Given the description of an element on the screen output the (x, y) to click on. 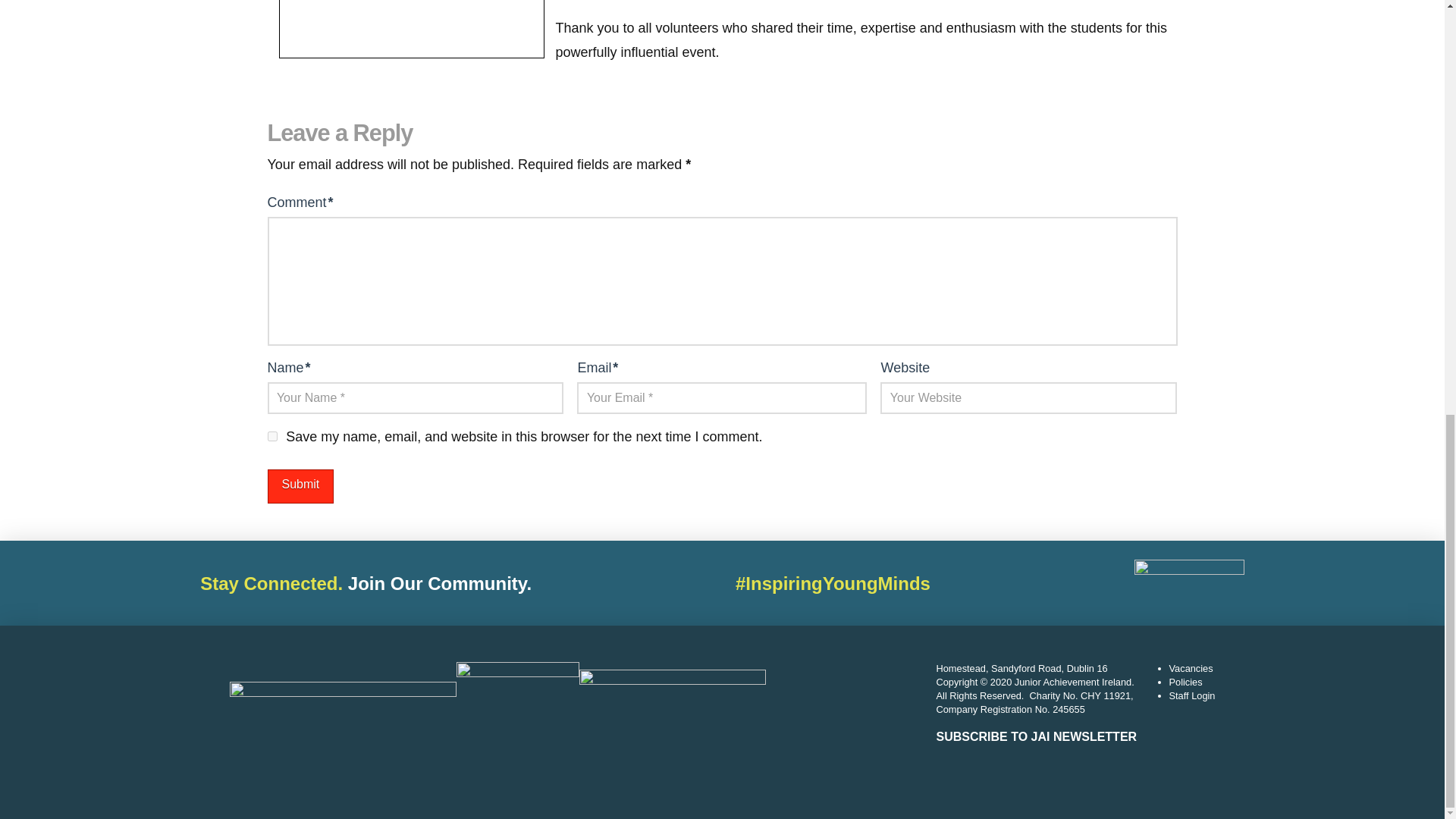
Submit (299, 486)
yes (271, 436)
Submit (299, 486)
